Given the description of an element on the screen output the (x, y) to click on. 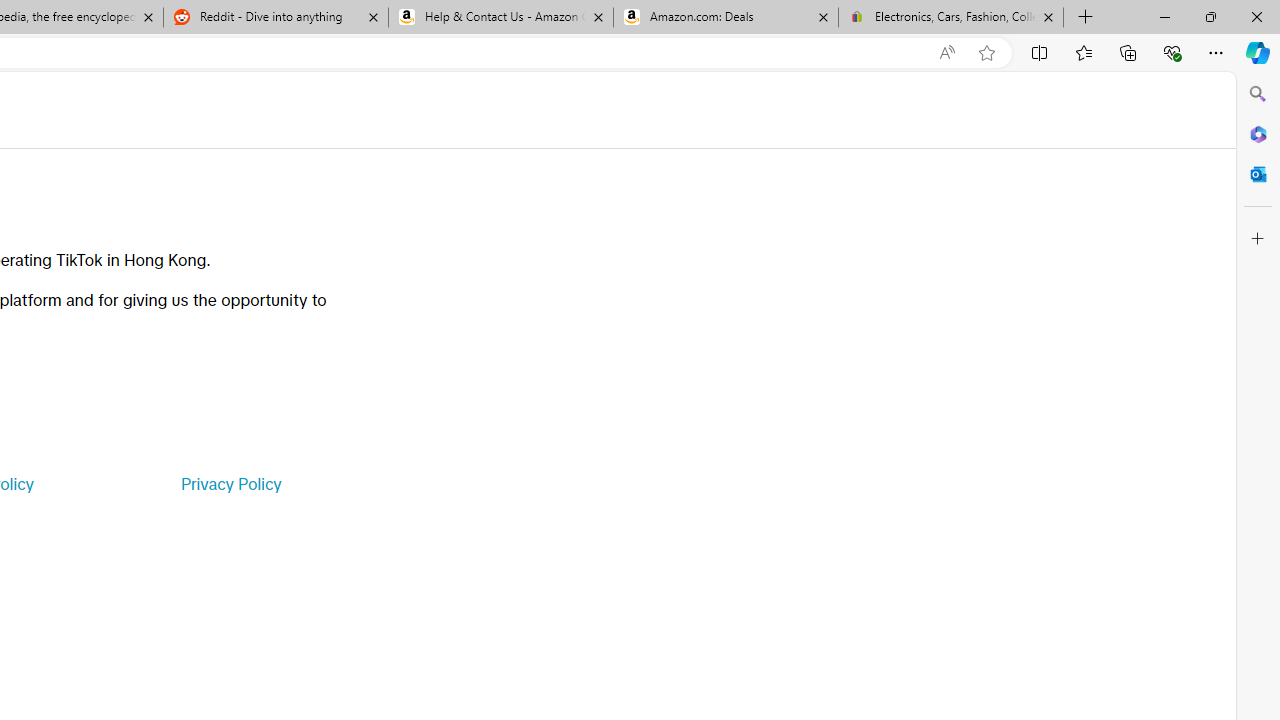
Amazon.com: Deals (726, 17)
